Given the description of an element on the screen output the (x, y) to click on. 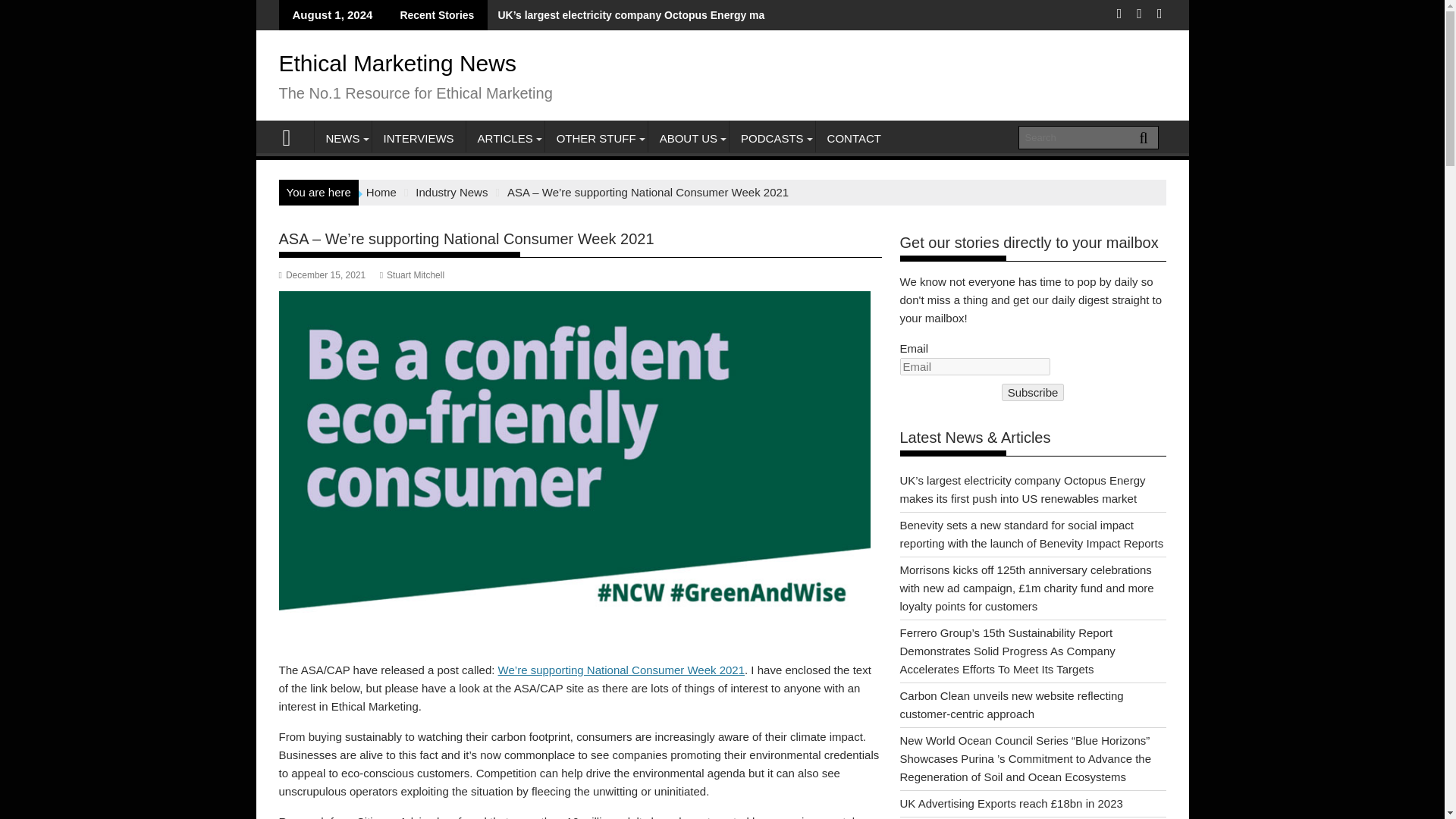
NEWS (342, 138)
PODCASTS (772, 138)
ARTICLES (504, 138)
Ethical Marketing News (293, 136)
Ethical Marketing News (397, 63)
ABOUT US (688, 138)
CONTACT (853, 138)
OTHER STUFF (595, 138)
Subscribe (1032, 392)
INTERVIEWS (417, 138)
